Given the description of an element on the screen output the (x, y) to click on. 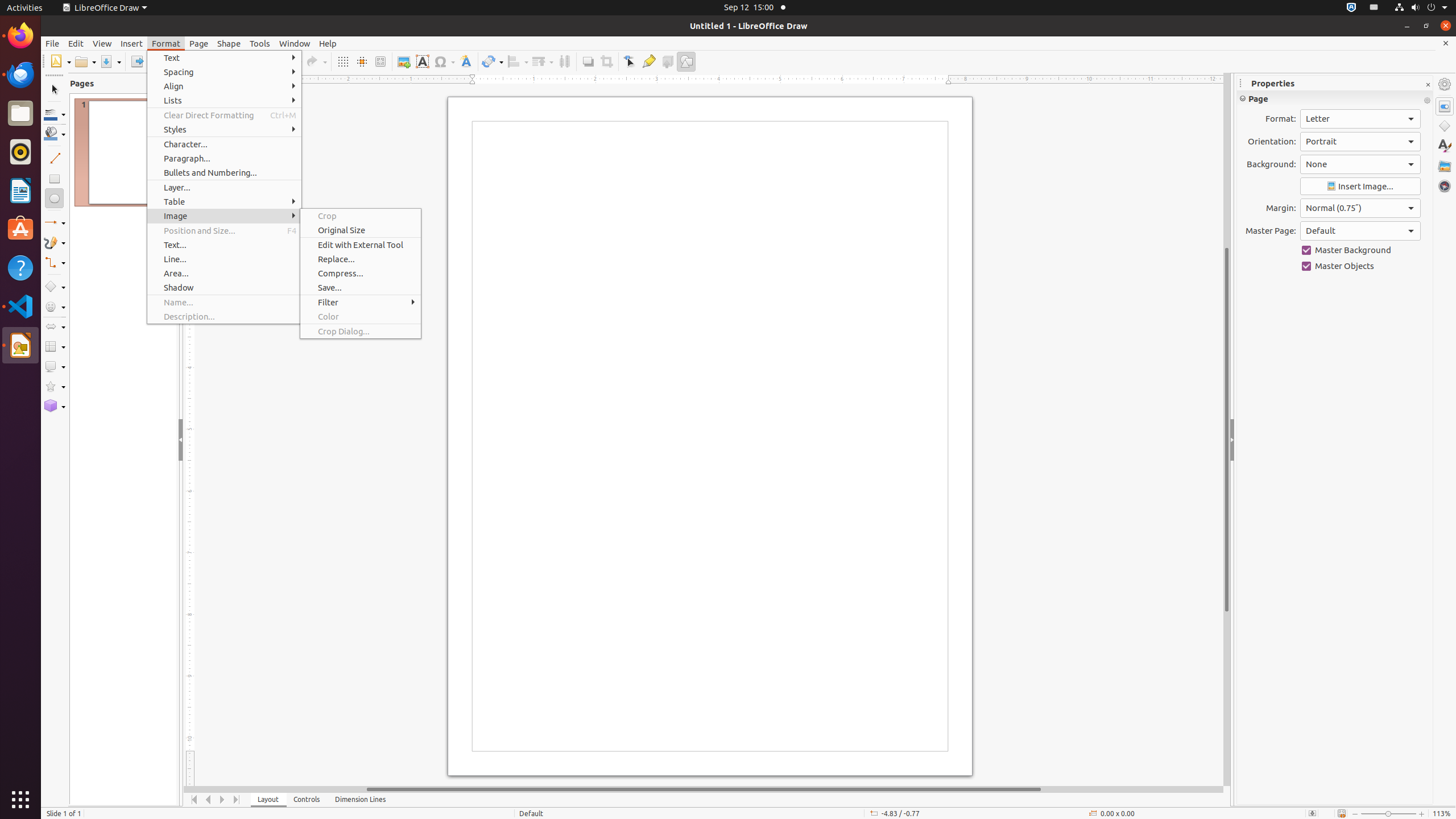
:1.72/StatusNotifierItem Element type: menu (1350, 7)
Export Element type: push-button (136, 61)
Glue Points Element type: push-button (648, 61)
Layout Element type: page-tab (268, 799)
Toggle Extrusion Element type: push-button (667, 61)
